Given the description of an element on the screen output the (x, y) to click on. 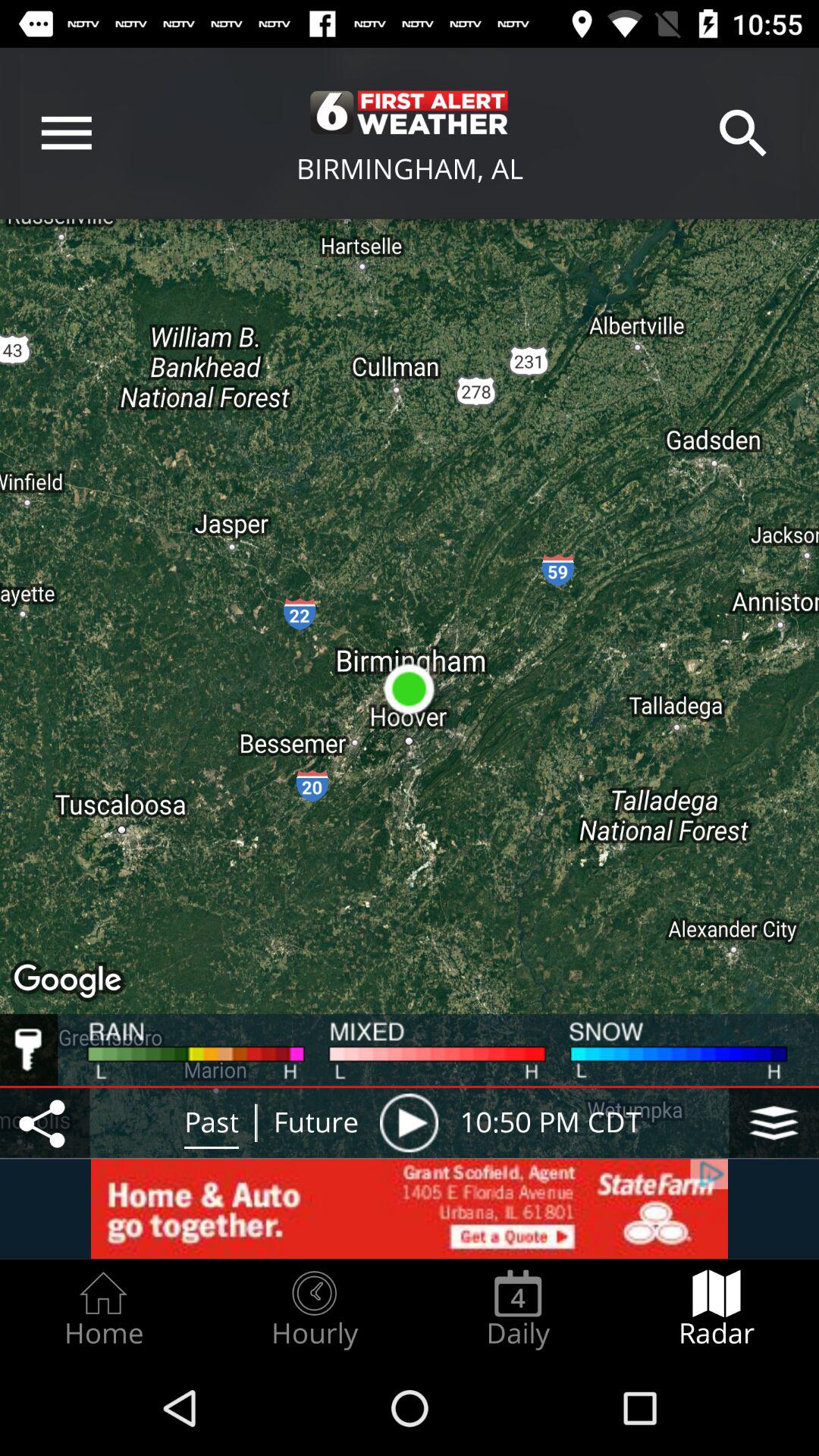
tap icon next to the hourly icon (103, 1309)
